Given the description of an element on the screen output the (x, y) to click on. 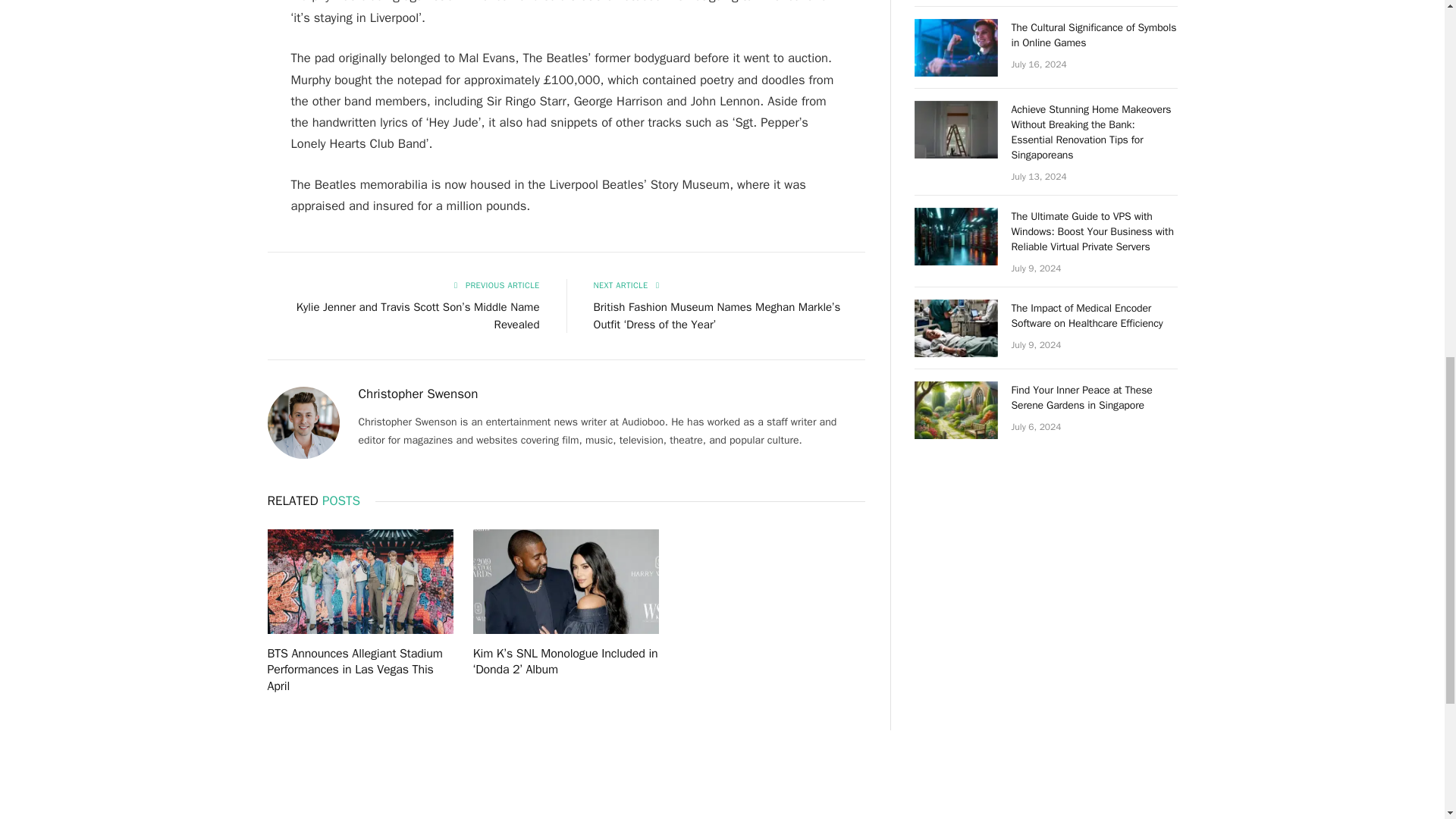
Christopher Swenson (417, 394)
